Given the description of an element on the screen output the (x, y) to click on. 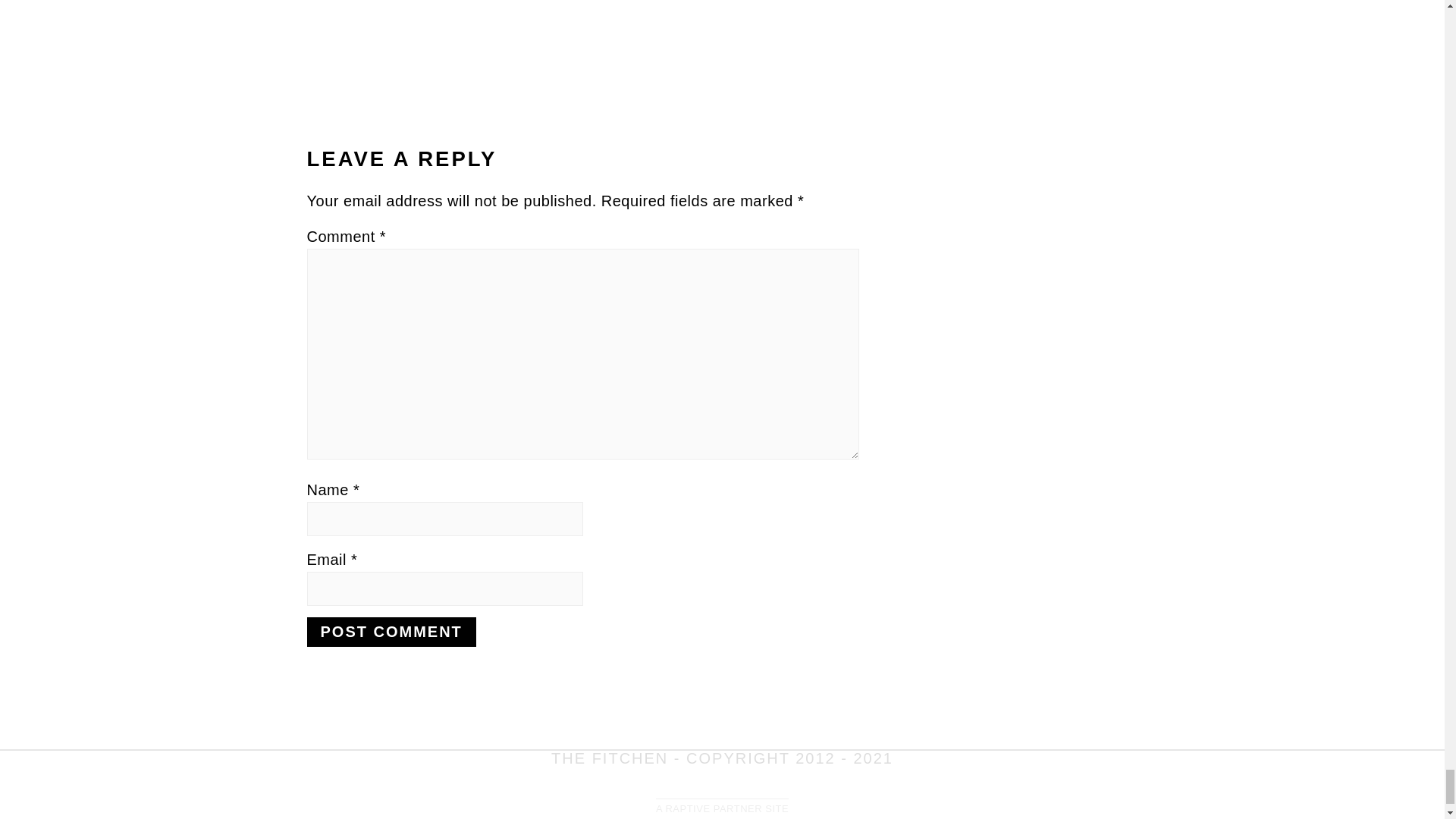
Post Comment (390, 632)
